Given the description of an element on the screen output the (x, y) to click on. 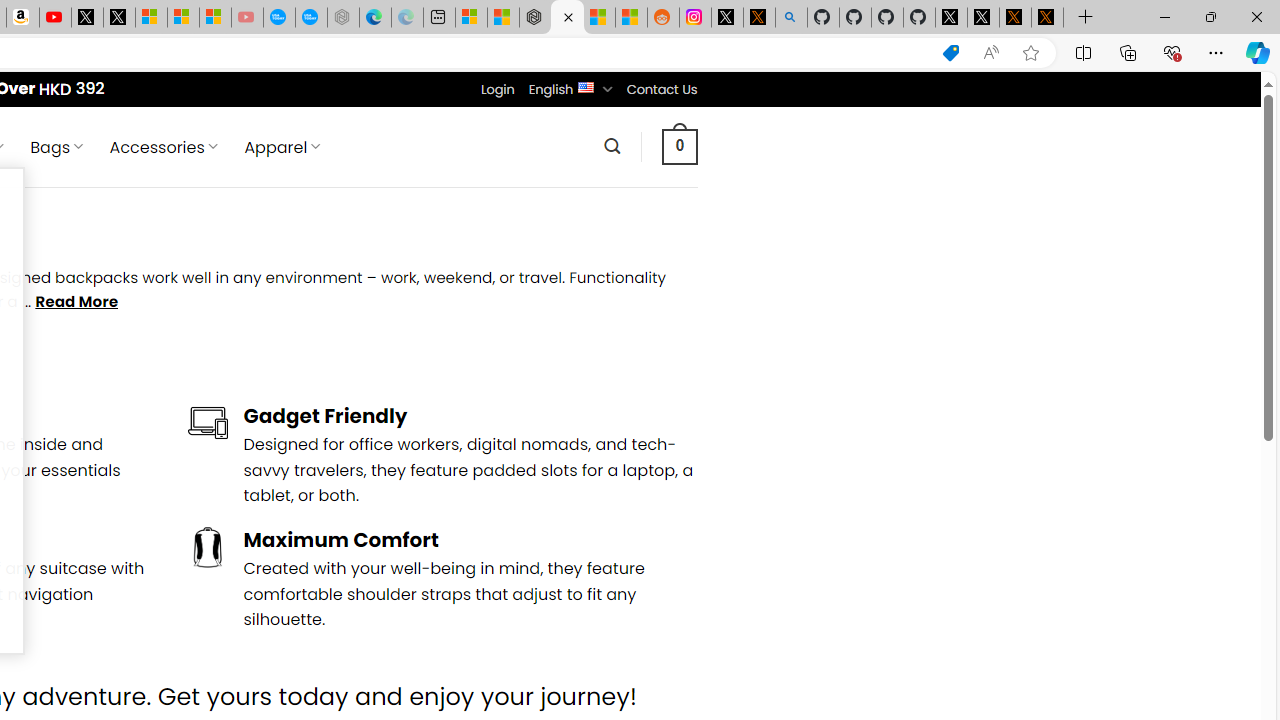
Gloom - YouTube - Sleeping (246, 17)
help.x.com | 524: A timeout occurred (758, 17)
Split screen (1083, 52)
Add this page to favorites (Ctrl+D) (1030, 53)
Nordace - Backpacks (566, 17)
Day 1: Arriving in Yemen (surreal to be here) - YouTube (54, 17)
Opinion: Op-Ed and Commentary - USA TODAY (279, 17)
 0  (679, 146)
